Given the description of an element on the screen output the (x, y) to click on. 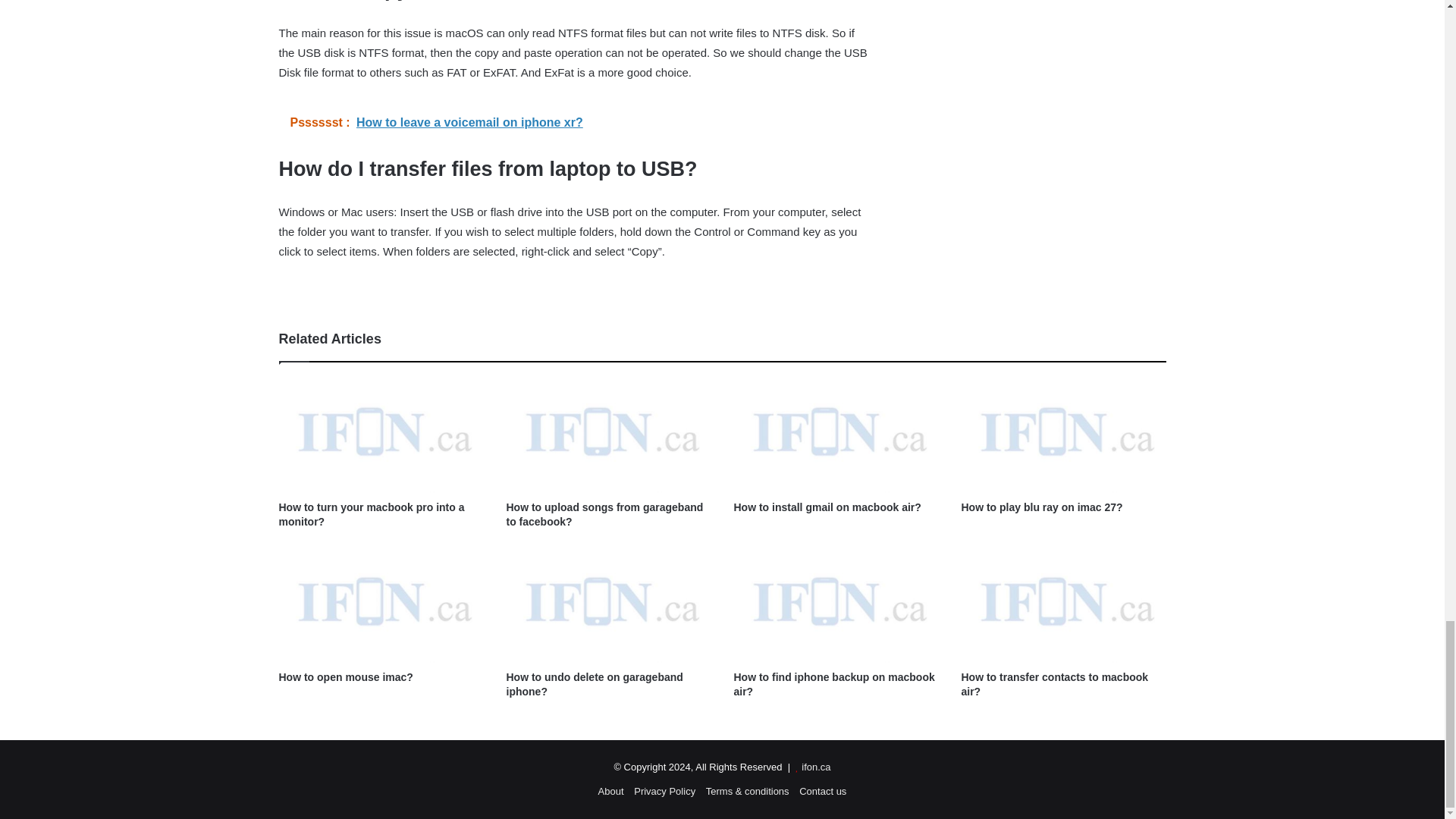
About (611, 790)
Privacy Policy (664, 790)
How to transfer contacts to macbook air? (1054, 683)
How to undo delete on garageband iphone? (594, 683)
How to install gmail on macbook air? (827, 507)
How to turn your macbook pro into a monitor? (371, 514)
How to upload songs from garageband to facebook? (604, 514)
How to play blu ray on imac 27? (1041, 507)
Psssssst :  How to leave a voicemail on iphone xr? (574, 122)
How to find iphone backup on macbook air? (833, 683)
